Given the description of an element on the screen output the (x, y) to click on. 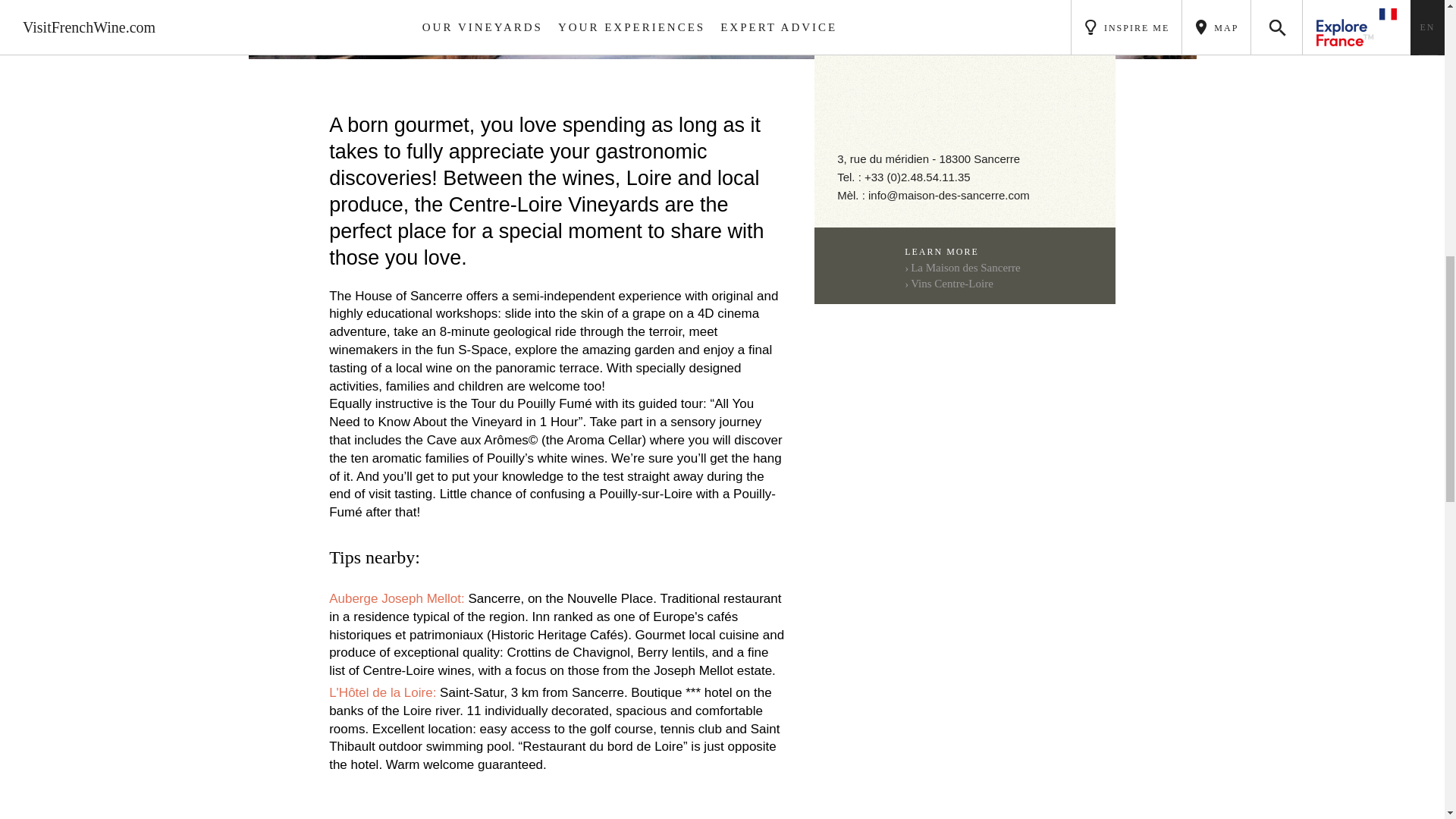
Vins Centre-Loire (948, 283)
La Maison des Sancerre (962, 267)
Auberge Joseph Mellot: (396, 598)
